Given the description of an element on the screen output the (x, y) to click on. 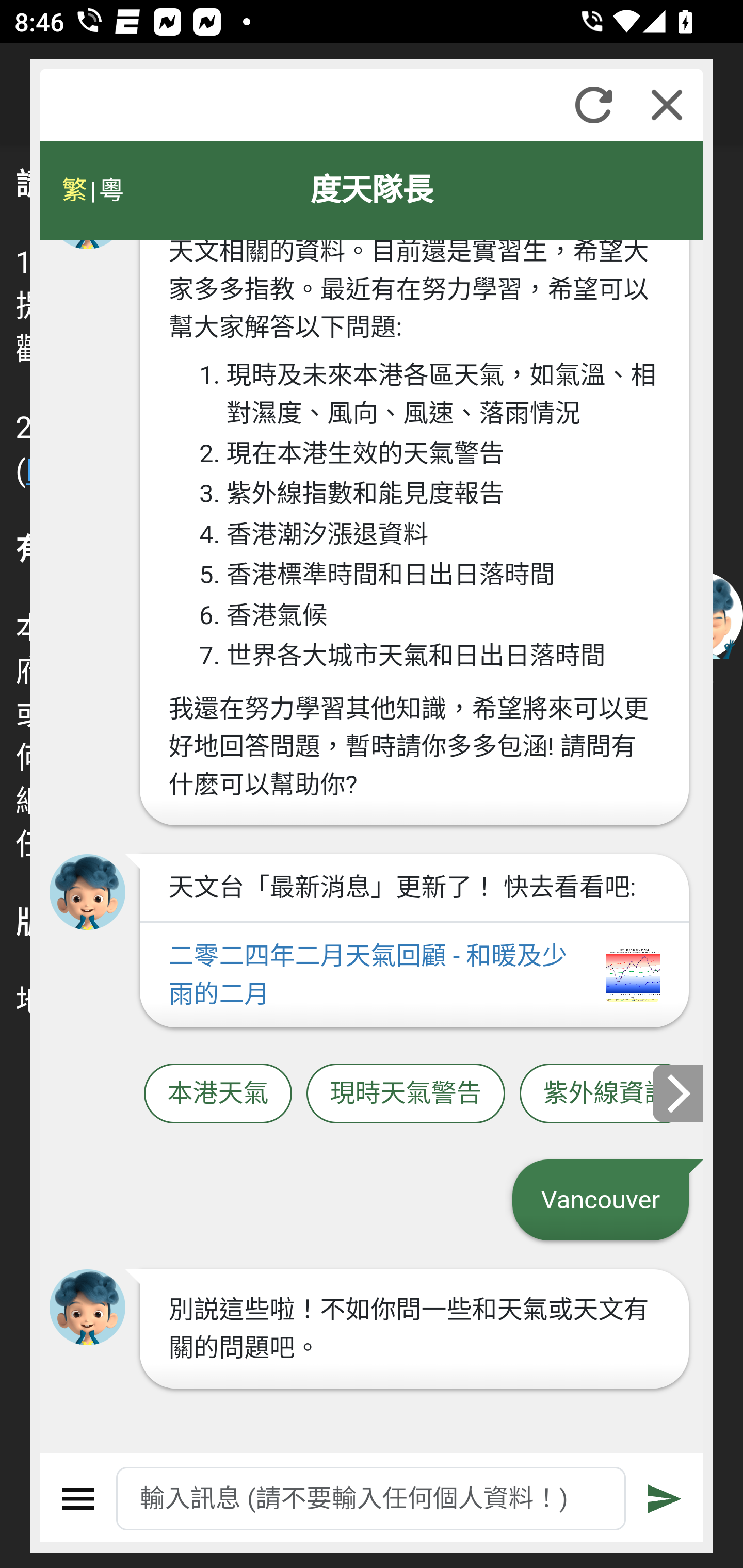
重新整理 (593, 104)
關閉 (666, 104)
繁 (73, 190)
粵 (110, 190)
二零二四年二月天氣回顧 - 和暖及少雨的二月 (413, 974)
本港天氣 (217, 1093)
現時天氣警告 (405, 1093)
紫外線資訊 (605, 1093)
下一張 (678, 1092)
選單 (78, 1498)
遞交 (665, 1498)
